Given the description of an element on the screen output the (x, y) to click on. 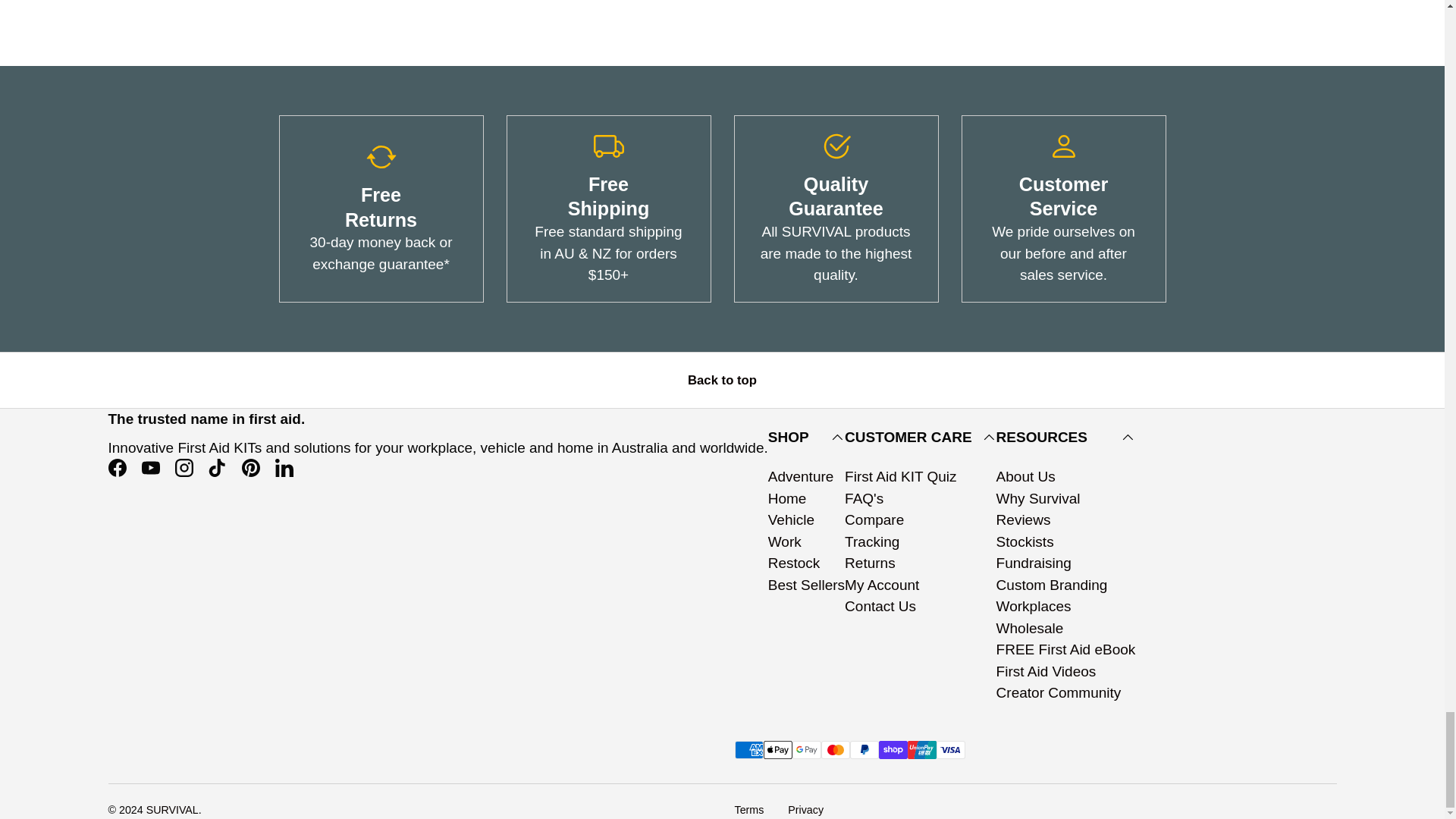
SURVIVAL on TikTok (216, 467)
Apple Pay (777, 750)
SURVIVAL on Facebook (116, 467)
SURVIVAL on LinkedIn (282, 467)
American Express (747, 750)
Google Pay (806, 750)
SURVIVAL on YouTube (150, 467)
SURVIVAL on Pinterest (249, 467)
SURVIVAL on Instagram (183, 467)
